Given the description of an element on the screen output the (x, y) to click on. 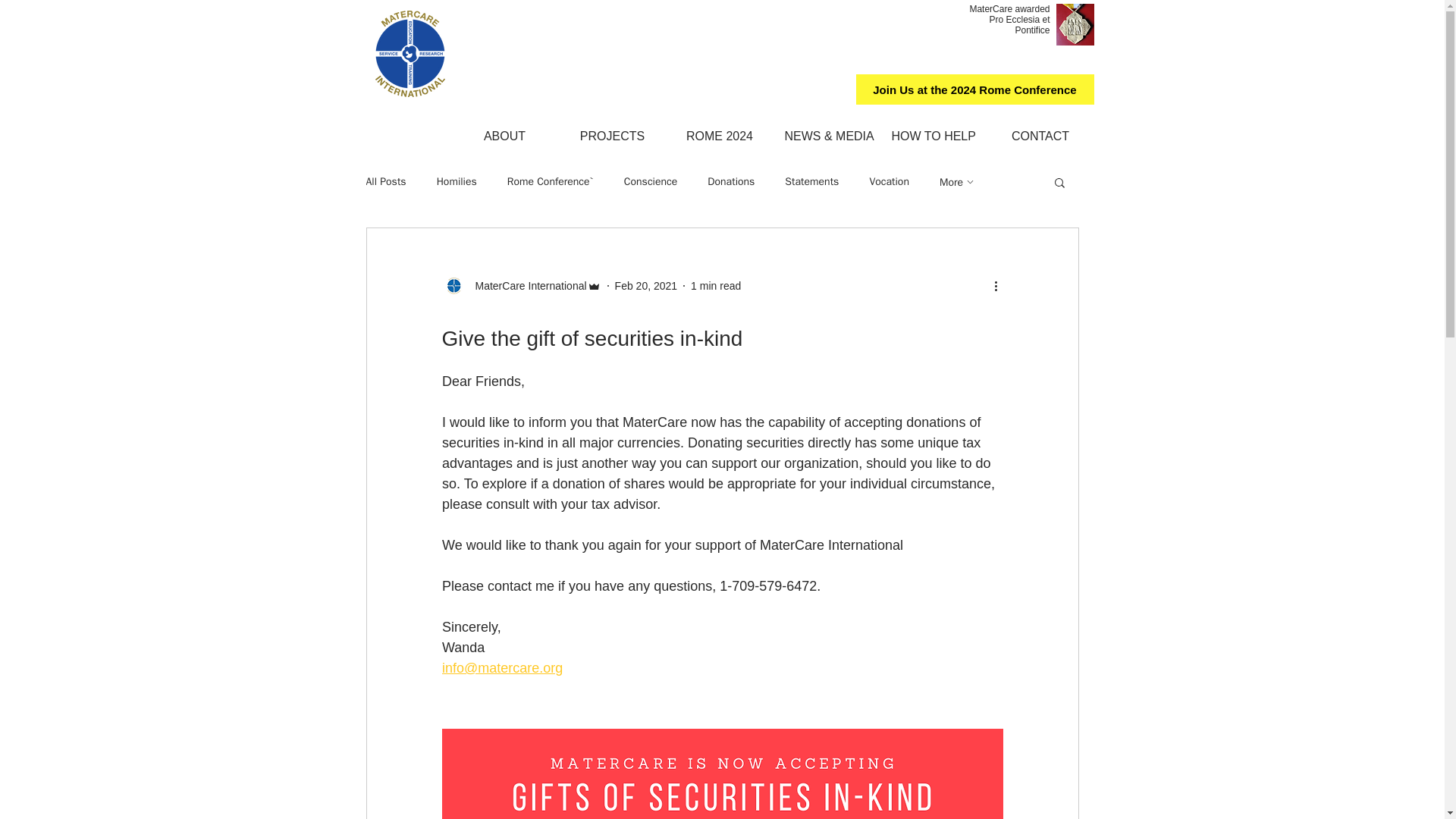
MaterCare awarded Pro Ecclesia et Pontifice (1009, 20)
MaterCare International (525, 285)
ABOUT (503, 136)
Homilies (456, 182)
Donations (730, 182)
Join Us at the 2024 Rome Conference (974, 89)
MaterCare International (520, 285)
Feb 20, 2021 (646, 285)
ROME 2024 (719, 136)
1 min read (715, 285)
